Given the description of an element on the screen output the (x, y) to click on. 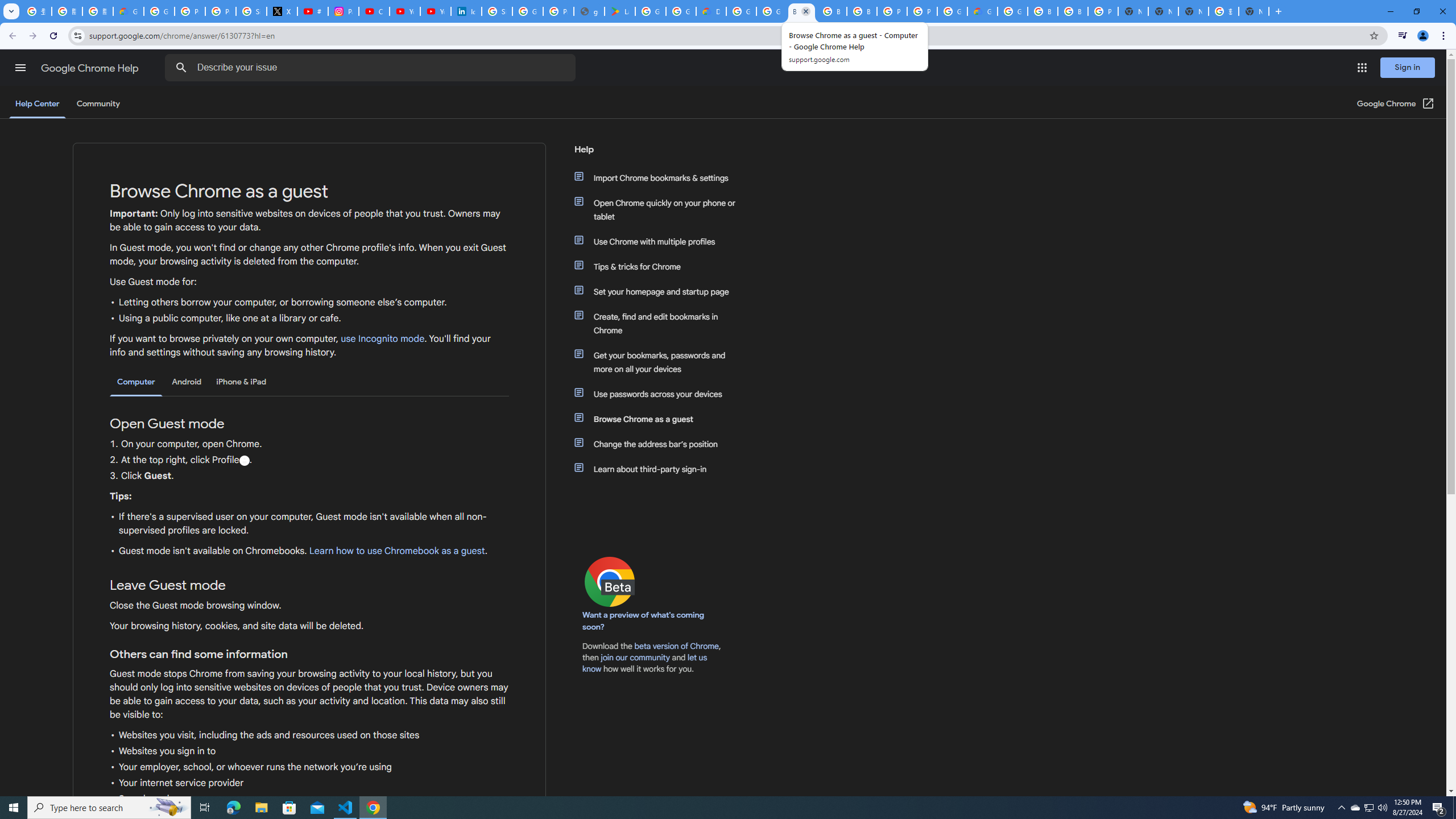
Google Cloud Platform (740, 11)
Google Cloud Platform (951, 11)
Want a preview of what's coming soon? (643, 621)
Use Chrome with multiple profiles (661, 241)
Set your homepage and startup page (661, 291)
Describe your issue (371, 67)
Google Cloud Privacy Notice (127, 11)
